Given the description of an element on the screen output the (x, y) to click on. 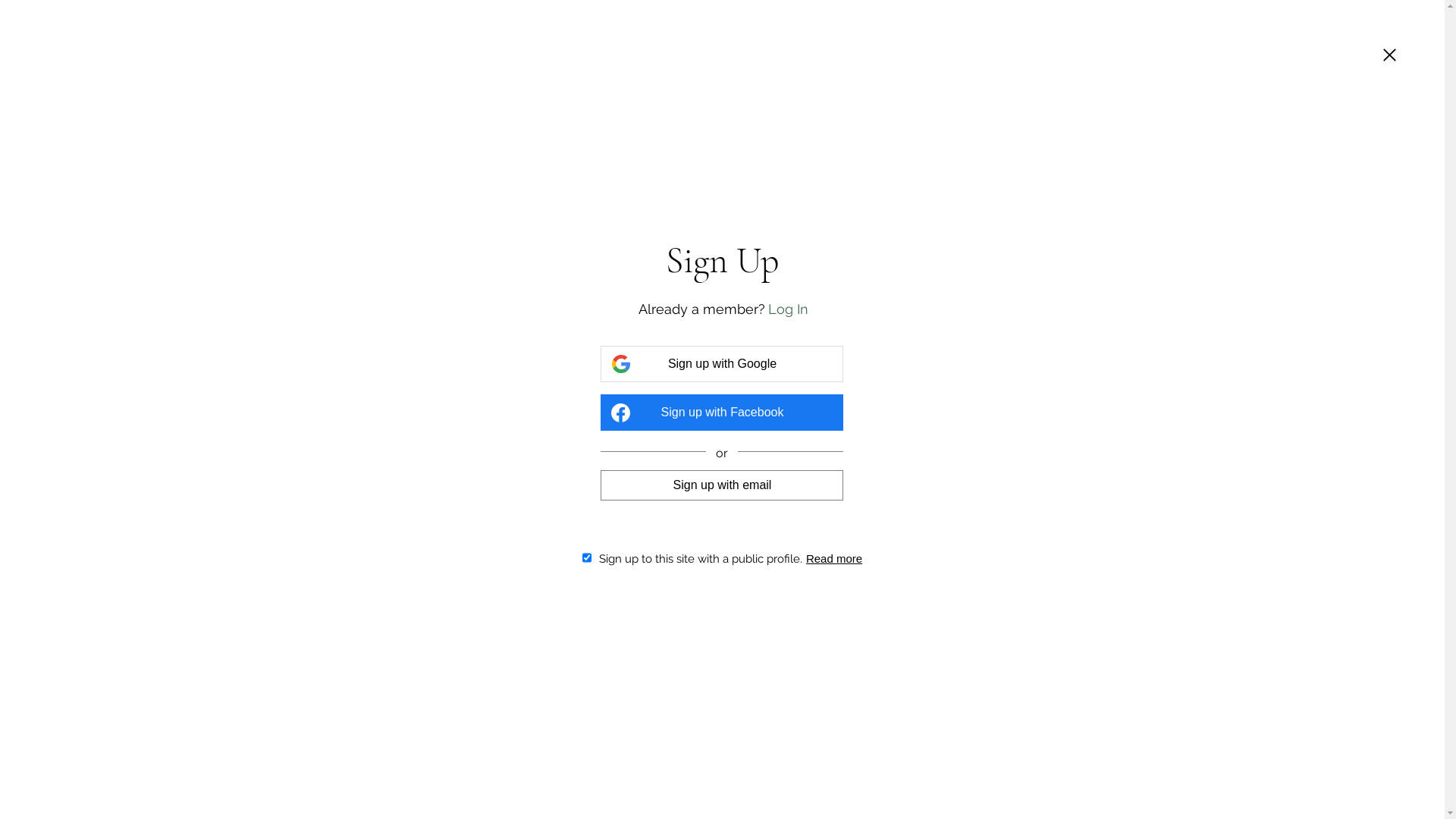
Sign up with email Element type: text (721, 485)
Sign up with Facebook Element type: text (721, 412)
Log In Element type: text (788, 309)
Read more Element type: text (834, 558)
Sign up with Google Element type: text (721, 363)
